Given the description of an element on the screen output the (x, y) to click on. 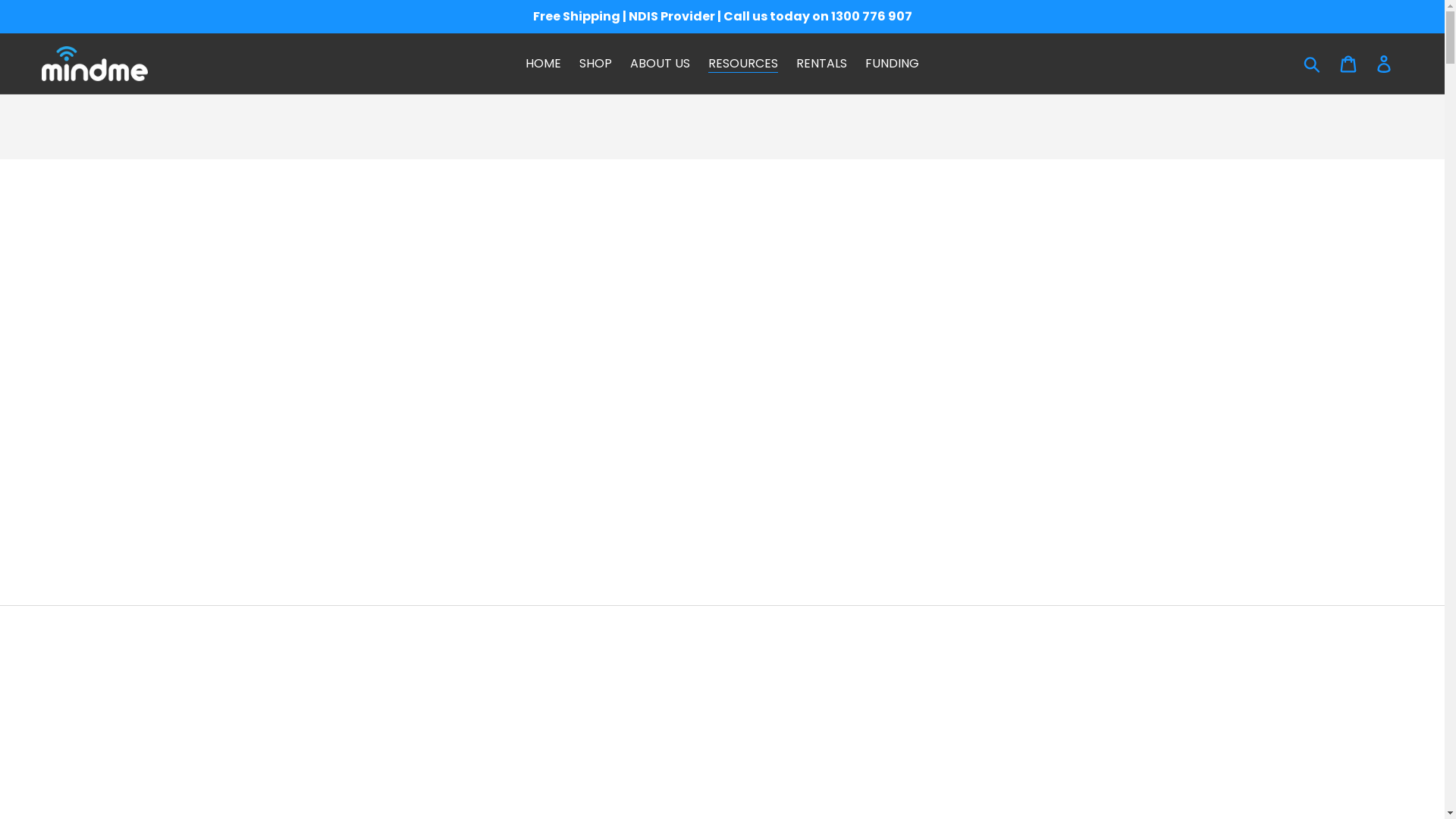
ABOUT US Element type: text (659, 63)
Cart Element type: text (1349, 63)
HOME Element type: text (542, 63)
RENTALS Element type: text (821, 63)
Submit Element type: text (1312, 63)
SHOP Element type: text (595, 63)
Go to Smart Tracking Element type: text (1384, 63)
RESOURCES Element type: text (742, 63)
FUNDING Element type: text (891, 63)
